Given the description of an element on the screen output the (x, y) to click on. 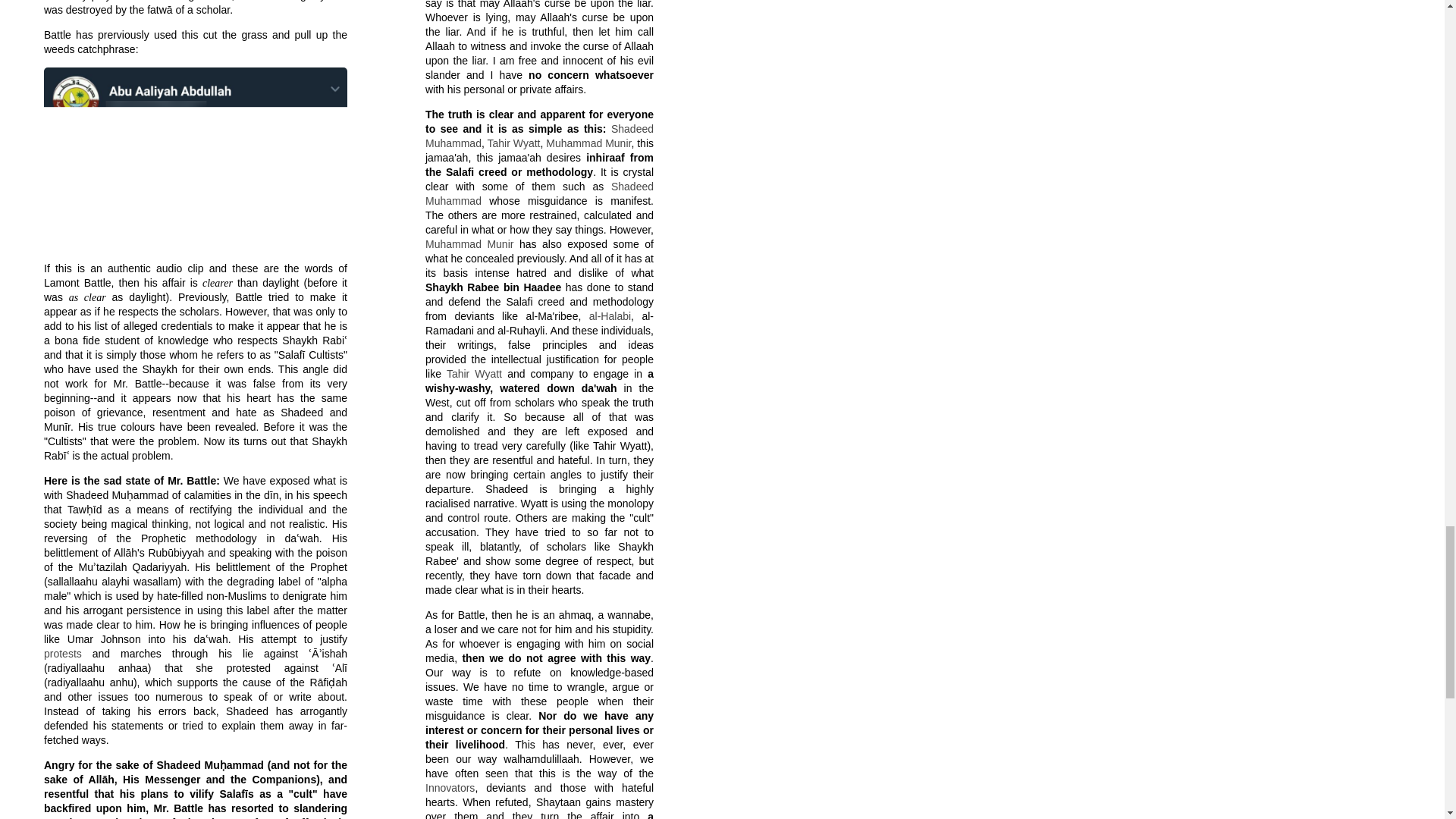
protests (62, 653)
Tahir Wyatt (513, 143)
Muhammad Munir (469, 244)
Muhammad Munir (588, 143)
Tahir Wyatt (474, 373)
Shadeed Muhammad (539, 193)
Innovators (449, 787)
Shadeed Muhammad (539, 135)
al-Halabi (609, 316)
